Given the description of an element on the screen output the (x, y) to click on. 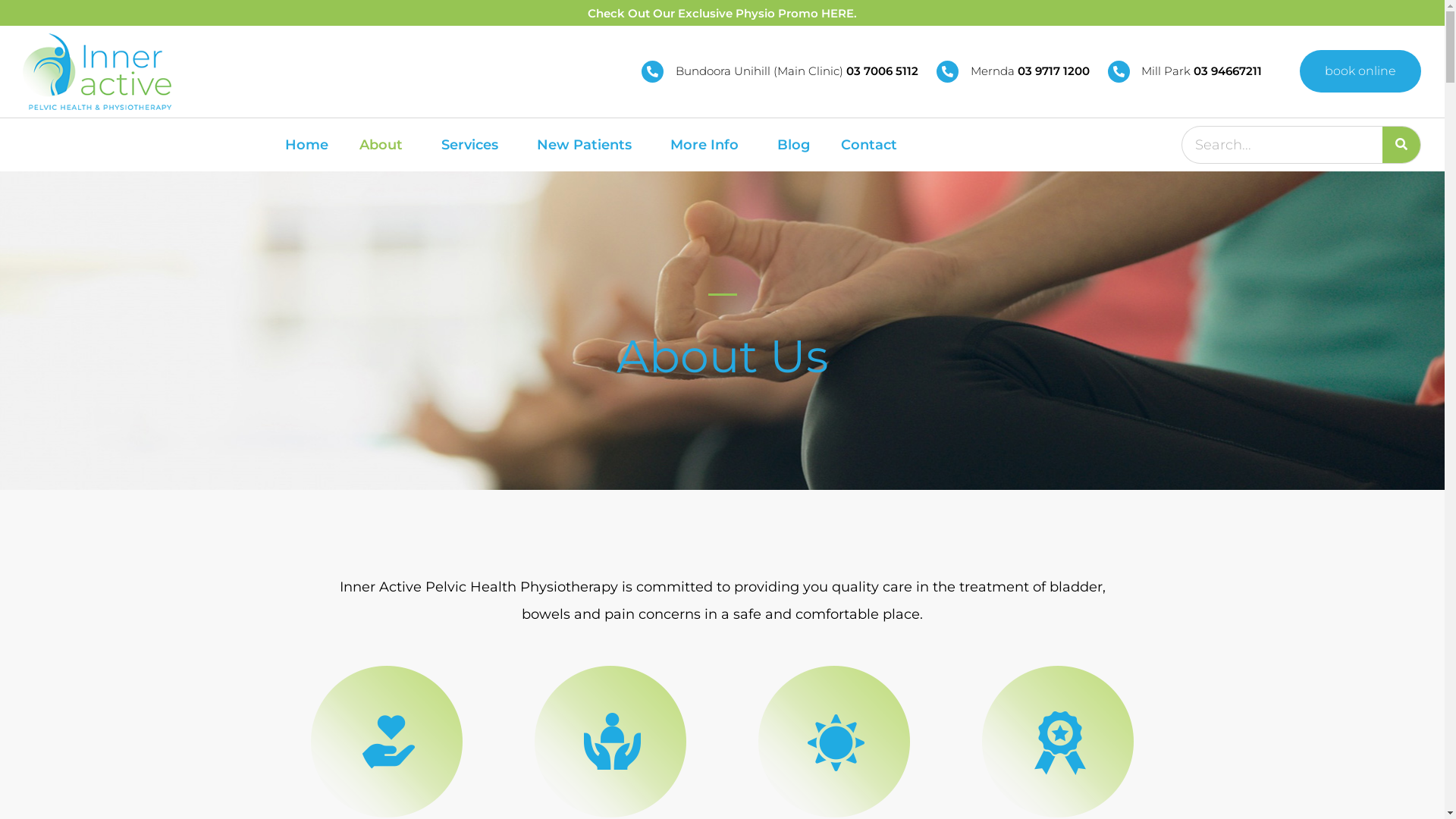
Contact Element type: text (872, 144)
New Patients Element type: text (587, 144)
About Element type: text (384, 144)
book online Element type: text (1360, 71)
Blog Element type: text (793, 144)
Services Element type: text (473, 144)
Check Out Our Exclusive Physio Promo HERE. Element type: text (721, 13)
Bundoora Unihill (Main Clinic) 03 7006 5112 Element type: text (779, 71)
More Info Element type: text (707, 144)
Home Element type: text (306, 144)
Mill Park 03 94667211 Element type: text (1184, 71)
Mernda 03 9717 1200 Element type: text (1012, 71)
